Given the description of an element on the screen output the (x, y) to click on. 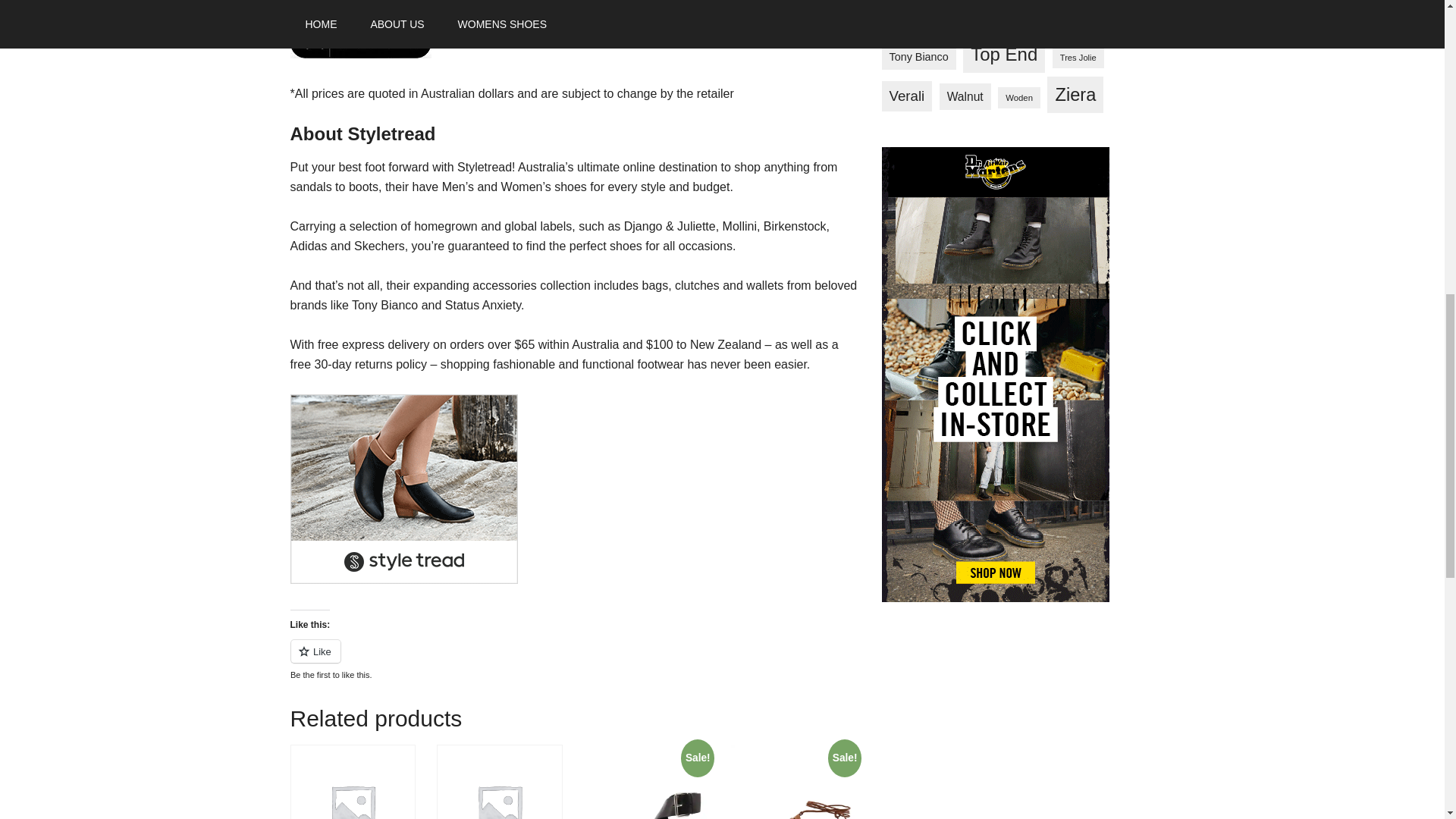
Planet Merrin Black Shoes (499, 781)
Like or Reblog (574, 659)
I Love Billy Jaya Il Tan Boots (351, 781)
